Given the description of an element on the screen output the (x, y) to click on. 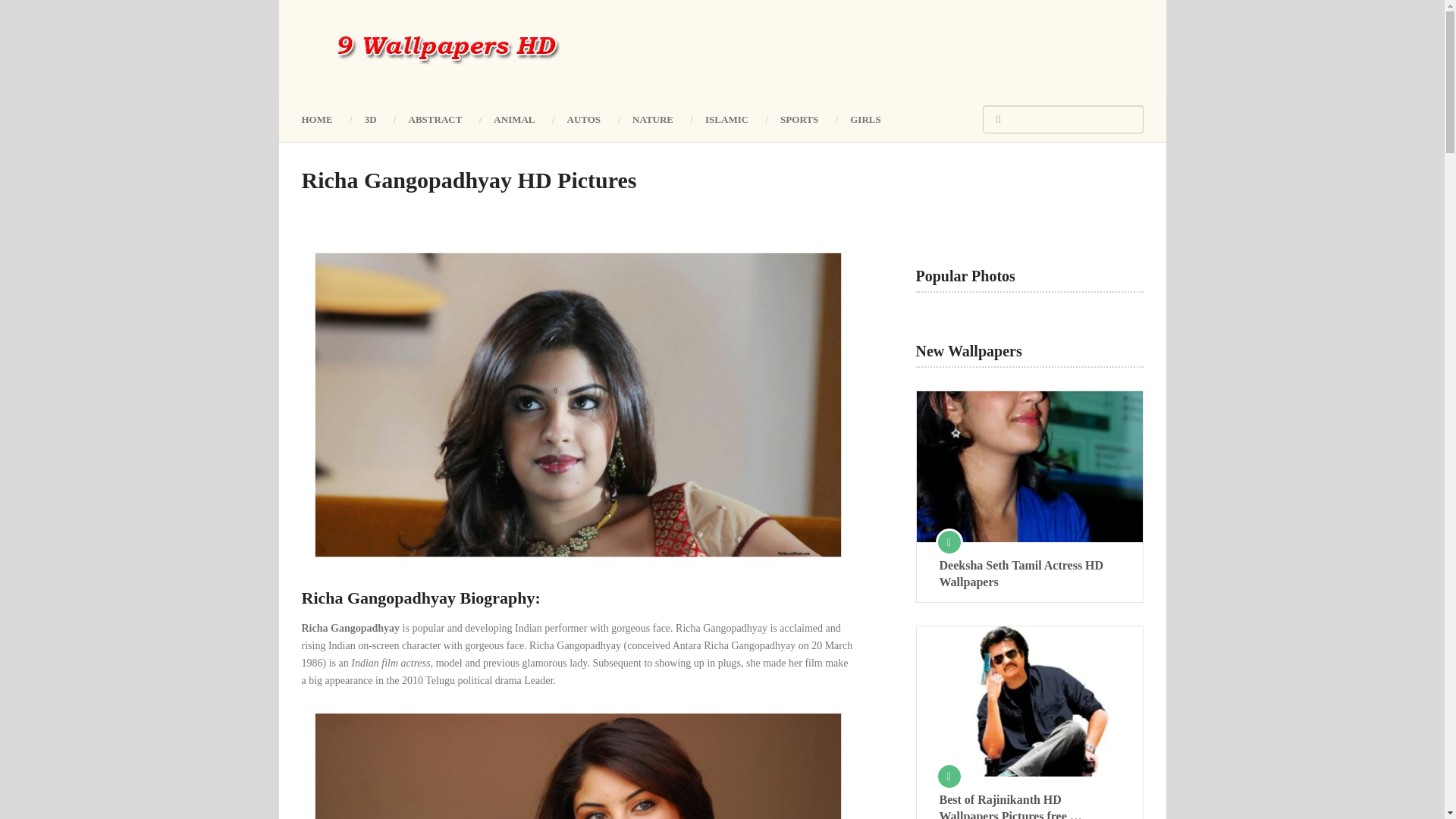
ISLAMIC (726, 118)
NATURE (651, 118)
AUTOS (584, 118)
SPORTS (799, 118)
3D (371, 118)
ABSTRACT (436, 118)
HOME (325, 118)
GIRLS (865, 118)
Deeksha Seth Tamil Actress HD Wallpapers (1029, 573)
ANIMAL (513, 118)
